Given the description of an element on the screen output the (x, y) to click on. 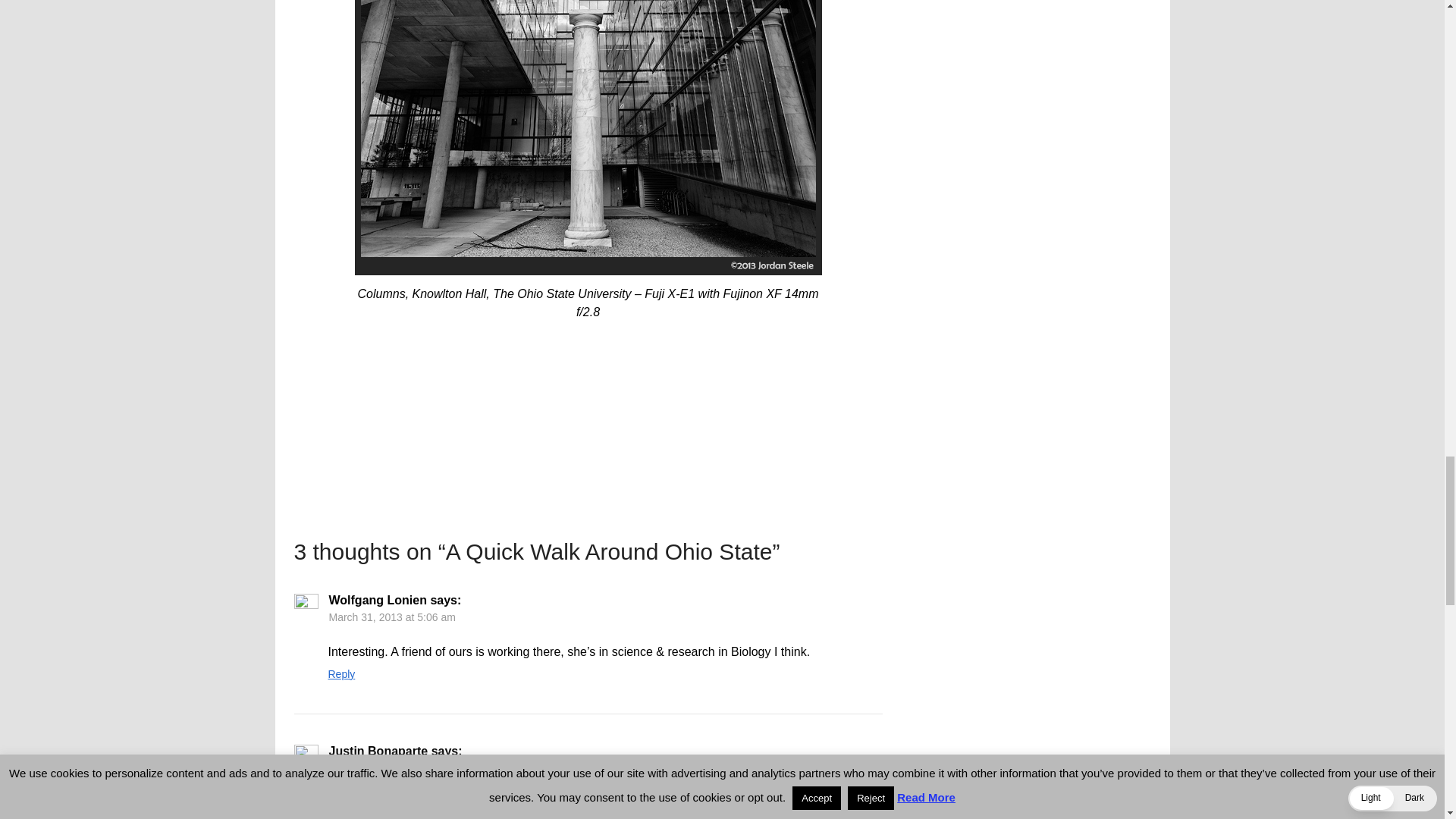
March 31, 2013 at 5:06 am (392, 616)
April 9, 2013 at 7:42 am (385, 767)
Reply (341, 674)
